Given the description of an element on the screen output the (x, y) to click on. 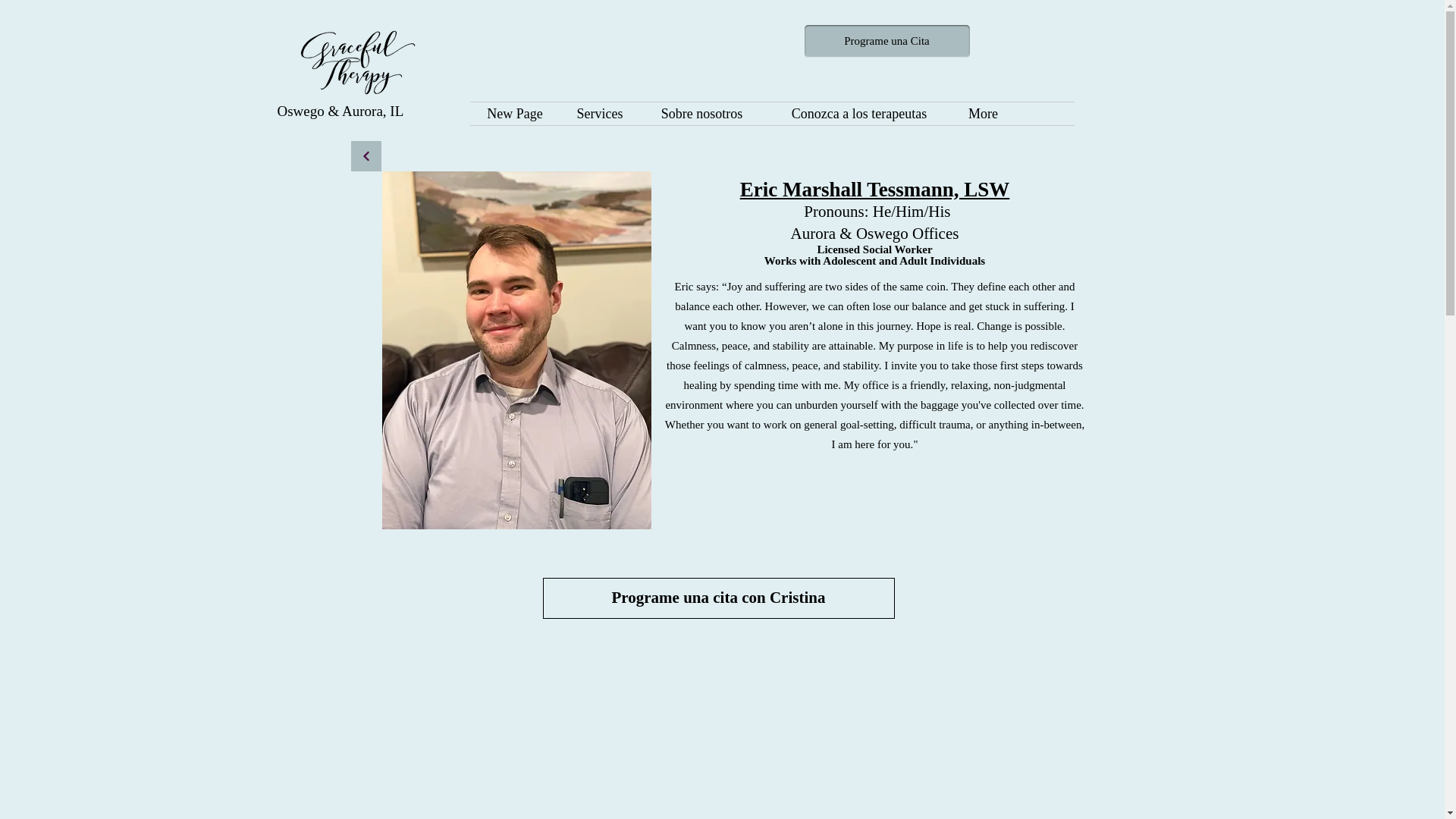
Programe una Cita (886, 41)
Services (599, 113)
Conozca a los terapeutas (859, 113)
New Page (515, 113)
Sobre nosotros (702, 113)
